Given the description of an element on the screen output the (x, y) to click on. 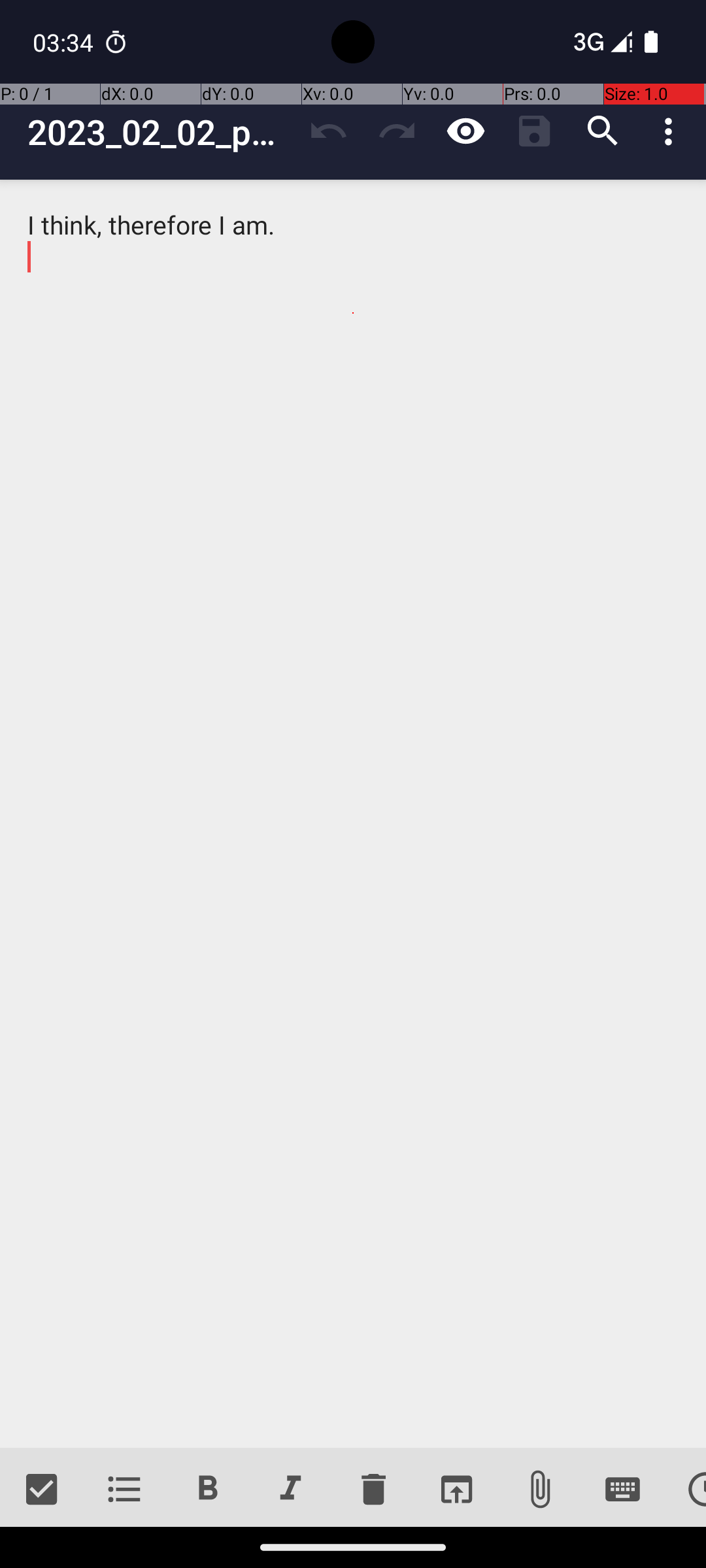
2023_02_02_polite_cat Element type: android.widget.TextView (160, 131)
I think, therefore I am.
 Element type: android.widget.EditText (353, 813)
03:34 Element type: android.widget.TextView (64, 41)
